Given the description of an element on the screen output the (x, y) to click on. 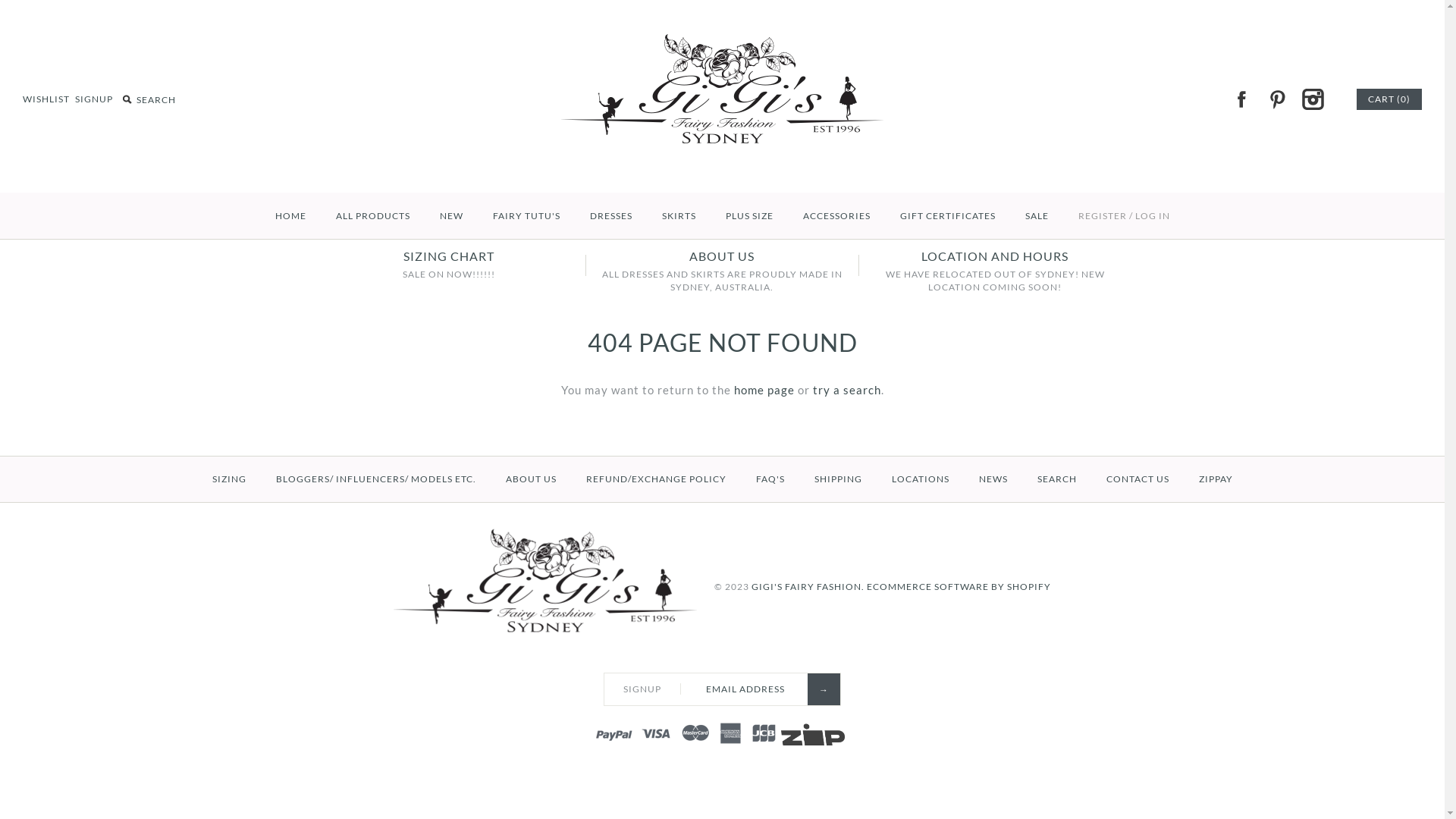
ZIPPAY Element type: text (1214, 479)
ECOMMERCE SOFTWARE BY SHOPIFY Element type: text (958, 586)
DRESSES Element type: text (611, 216)
SIGNUP Element type: text (93, 98)
NEWS Element type: text (992, 479)
SALE Element type: text (1036, 216)
INSTAGRAM Element type: text (1312, 99)
home page Element type: text (764, 389)
LOCATIONS Element type: text (920, 479)
PLUS SIZE Element type: text (748, 216)
FAQ'S Element type: text (769, 479)
try a search Element type: text (846, 389)
REGISTER Element type: text (1102, 216)
CART (0) Element type: text (1388, 98)
REFUND/EXCHANGE POLICY Element type: text (655, 479)
FAIRY TUTU'S Element type: text (526, 216)
LOG IN Element type: text (1151, 216)
SIZING Element type: text (229, 479)
SIZING CHART
SALE ON NOW!!!!!! Element type: text (448, 264)
BLOGGERS/ INFLUENCERS/ MODELS ETC. Element type: text (375, 479)
CONTACT US Element type: text (1137, 479)
GIFT CERTIFICATES Element type: text (946, 216)
ABOUT US Element type: text (530, 479)
HOME Element type: text (289, 216)
GiGi's Fairy Fashion Element type: hover (722, 39)
FACEBOOK Element type: text (1241, 99)
SEARCH Element type: text (1056, 479)
ALL PRODUCTS Element type: text (372, 216)
PINTEREST Element type: text (1276, 99)
WISHLIST Element type: text (45, 98)
SHIPPING Element type: text (837, 479)
ACCESSORIES Element type: text (835, 216)
GIGI'S FAIRY FASHION. Element type: text (807, 586)
SKIRTS Element type: text (678, 216)
NEW Element type: text (451, 216)
